Given the description of an element on the screen output the (x, y) to click on. 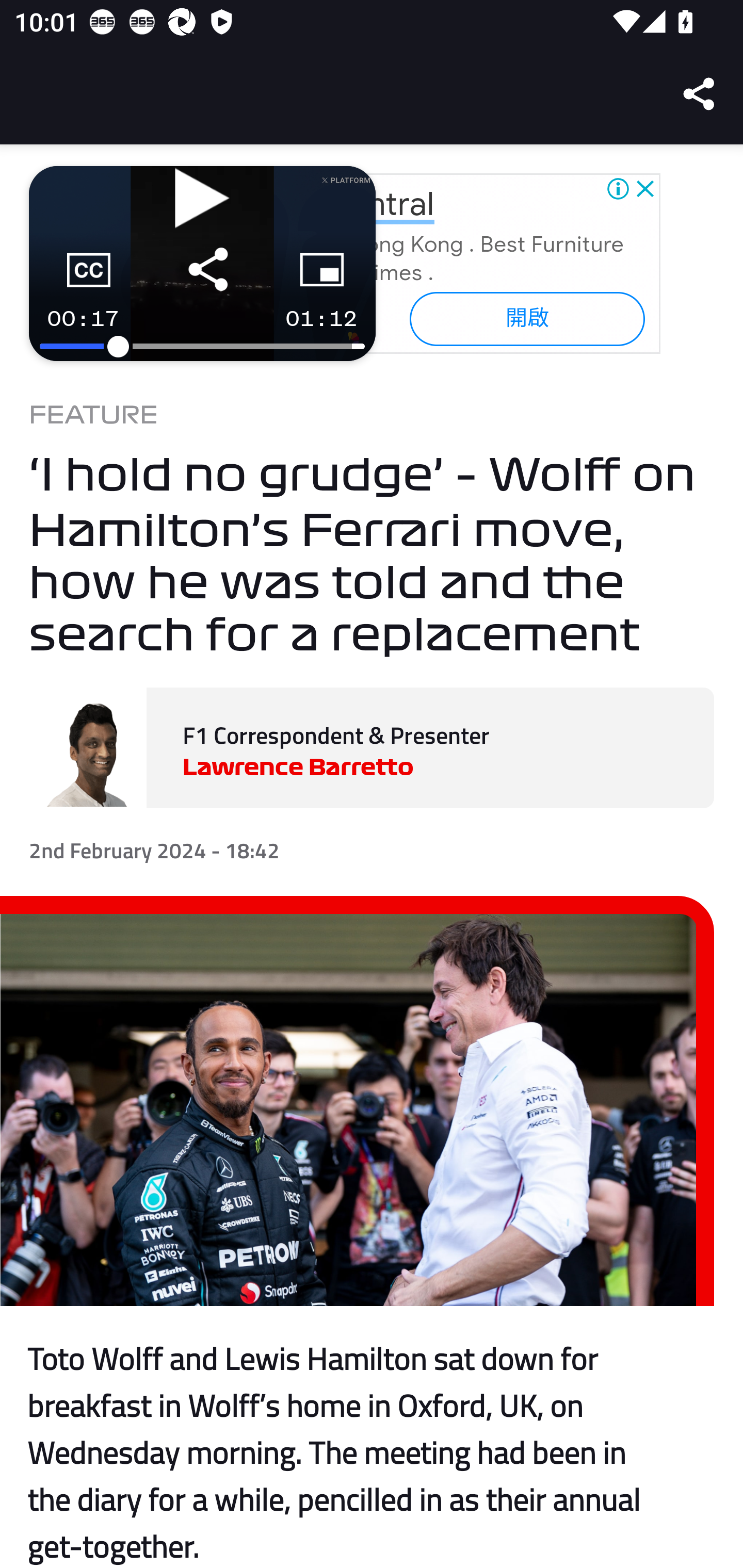
Share (699, 93)
開啟 (526, 318)
